Given the description of an element on the screen output the (x, y) to click on. 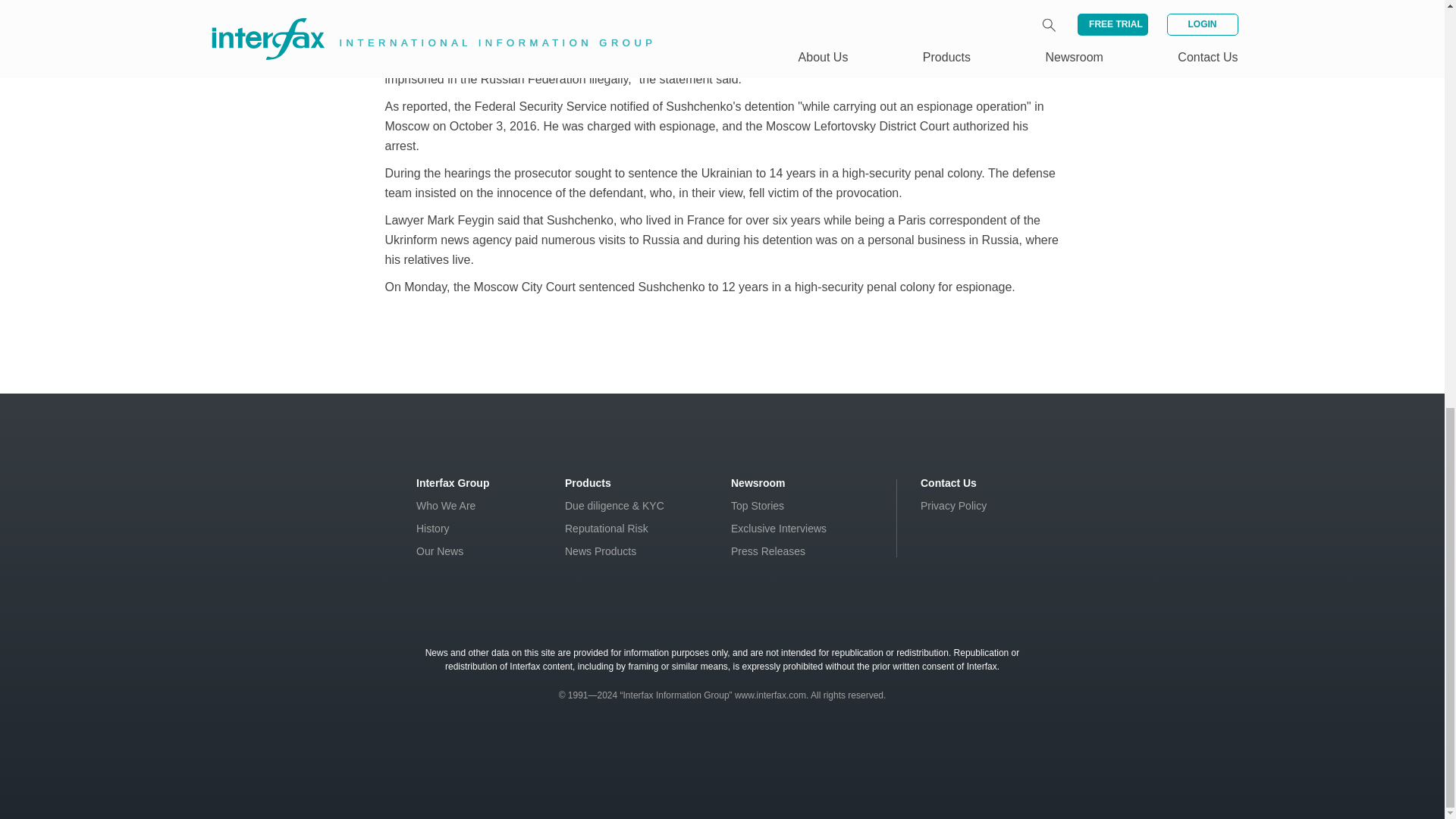
Our News (439, 551)
Who We Are (446, 505)
Interfax Group (452, 482)
History (432, 528)
